Given the description of an element on the screen output the (x, y) to click on. 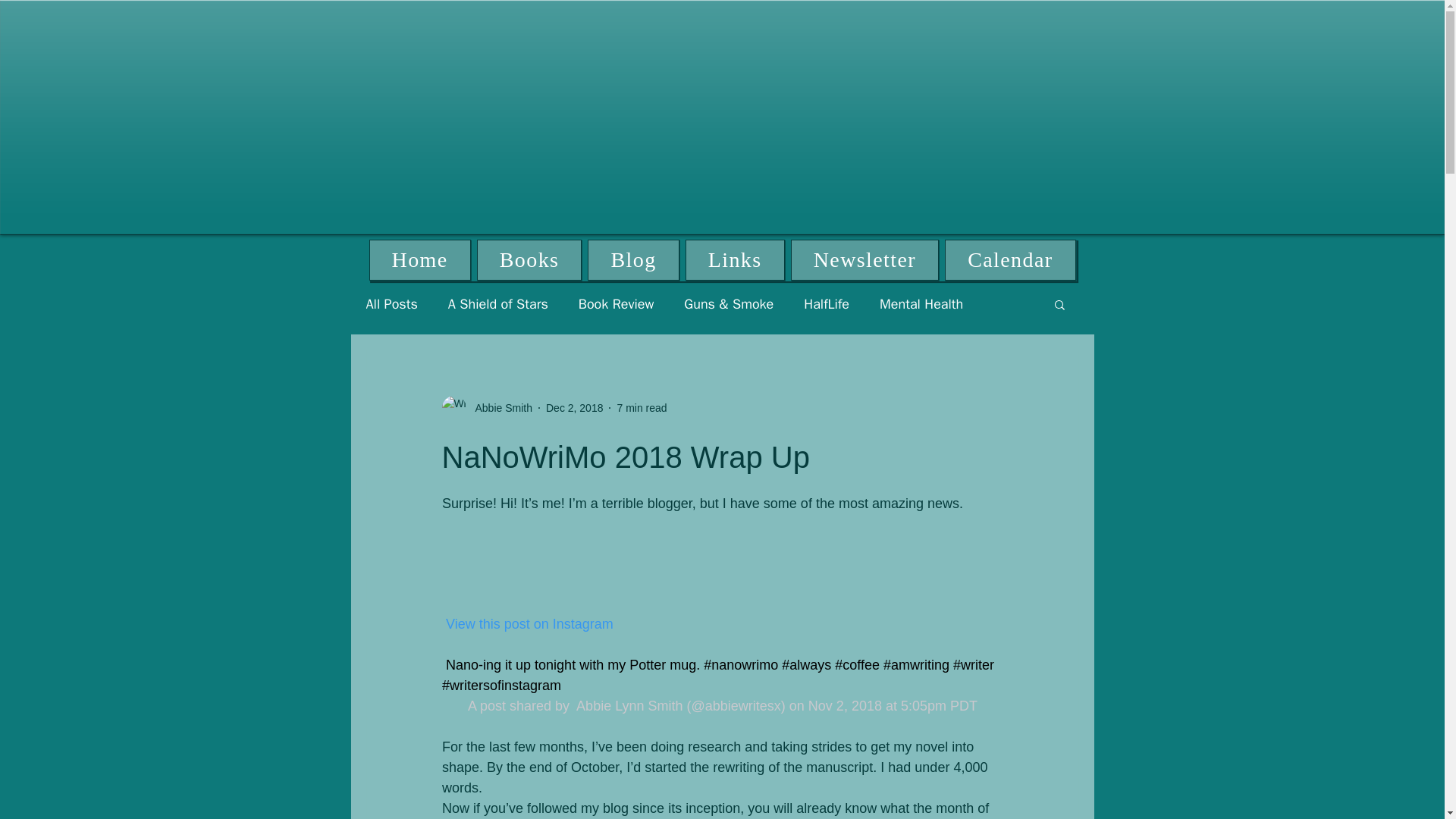
Abbie Smith (498, 408)
 Abbie Lynn Smith (627, 705)
7 min read (640, 408)
Dec 2, 2018 (575, 408)
All Posts (390, 303)
HalfLife (825, 303)
 View this post on Instagram (526, 623)
Book Review (615, 303)
Abbie Smith (486, 407)
A Shield of Stars (498, 303)
Mental Health (920, 303)
